Given the description of an element on the screen output the (x, y) to click on. 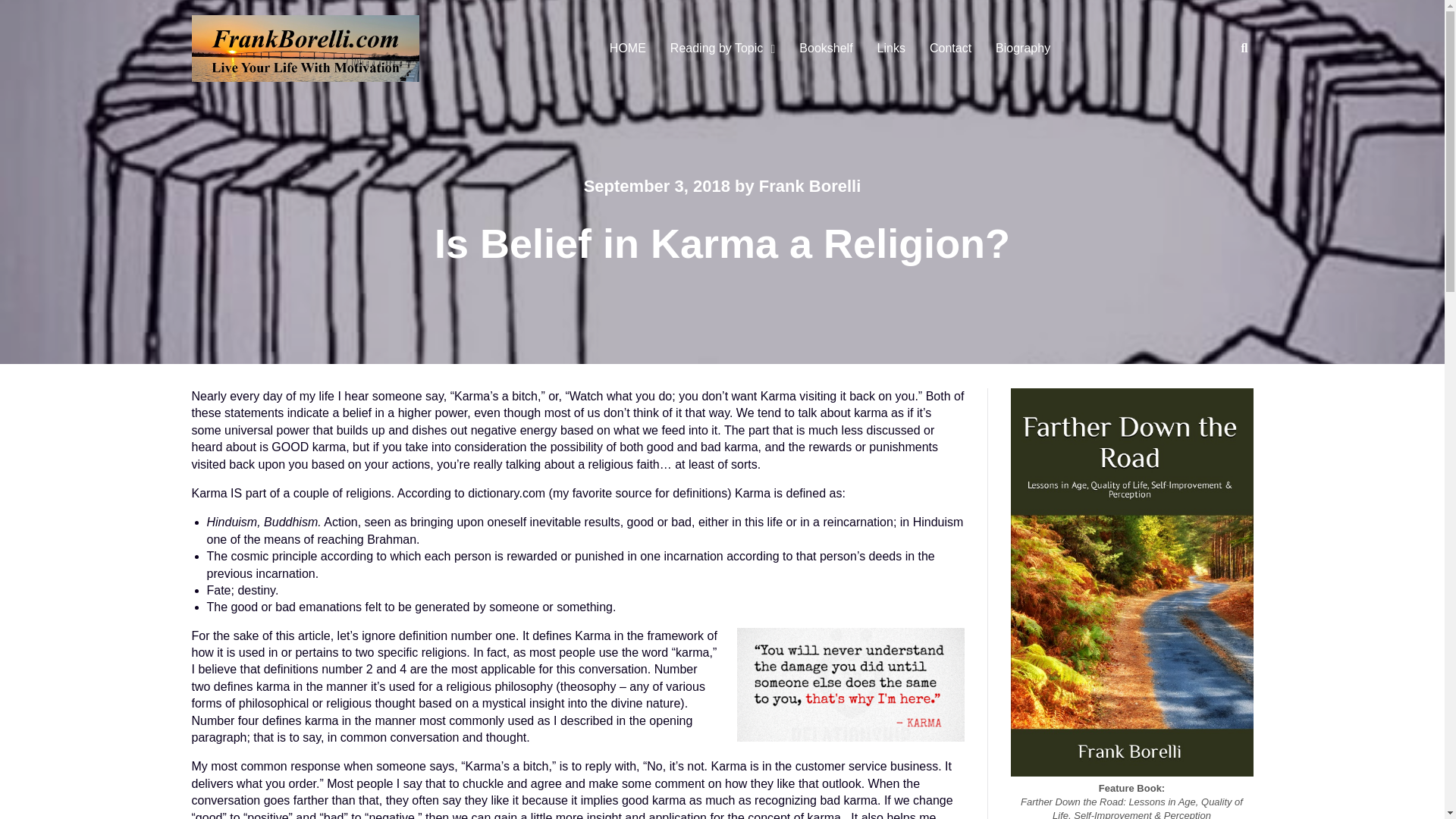
Reading by Topic (719, 48)
Search (1229, 101)
HOME (627, 48)
Links (890, 48)
Bookshelf (825, 48)
Biography (1023, 48)
Links (890, 48)
Contact (950, 48)
